Given the description of an element on the screen output the (x, y) to click on. 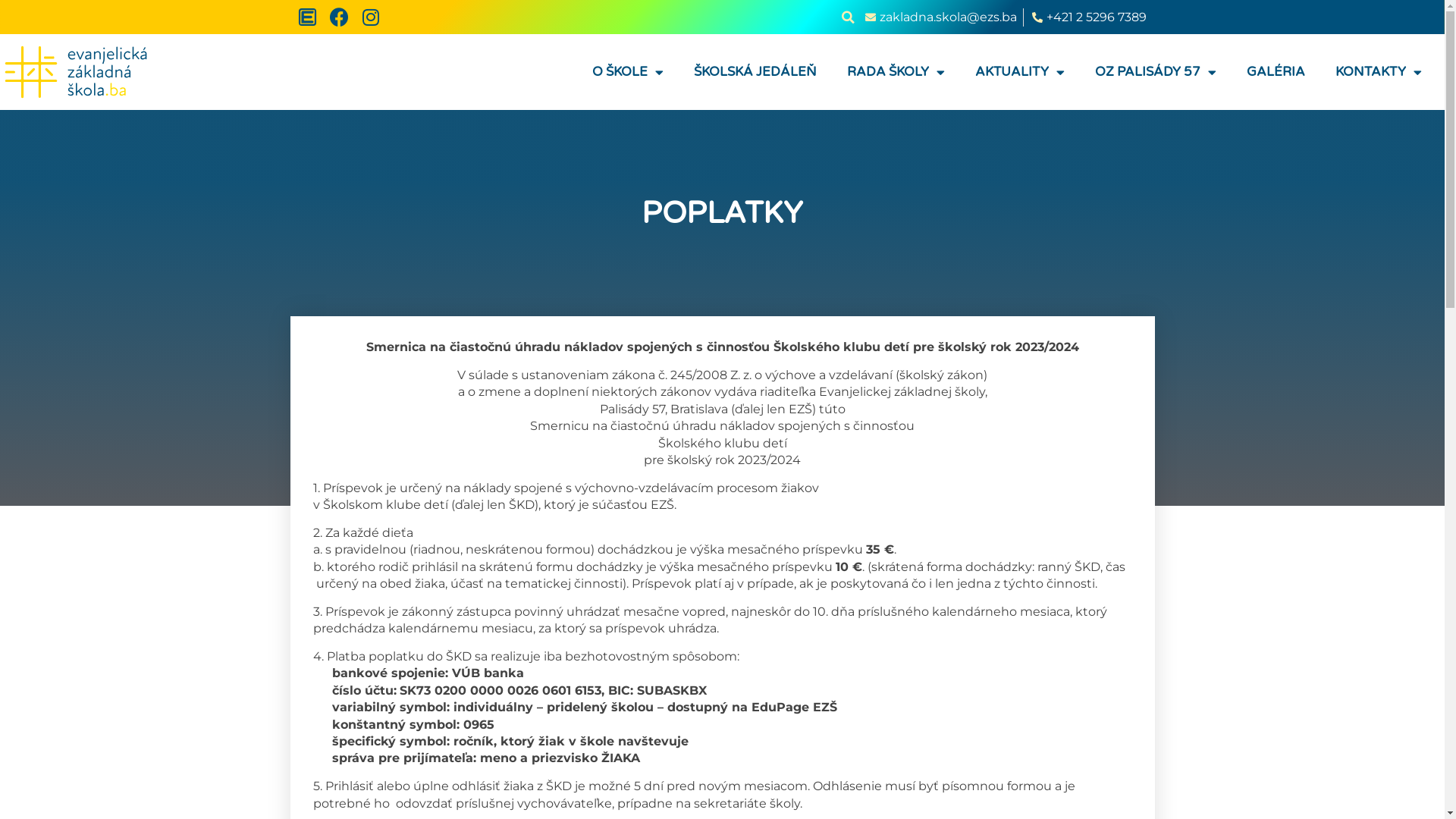
+421 2 5296 7389 Element type: text (1088, 17)
zakladna.skola@ezs.ba Element type: text (939, 17)
AKTUALITY Element type: text (1019, 71)
KONTAKTY Element type: text (1378, 71)
